Given the description of an element on the screen output the (x, y) to click on. 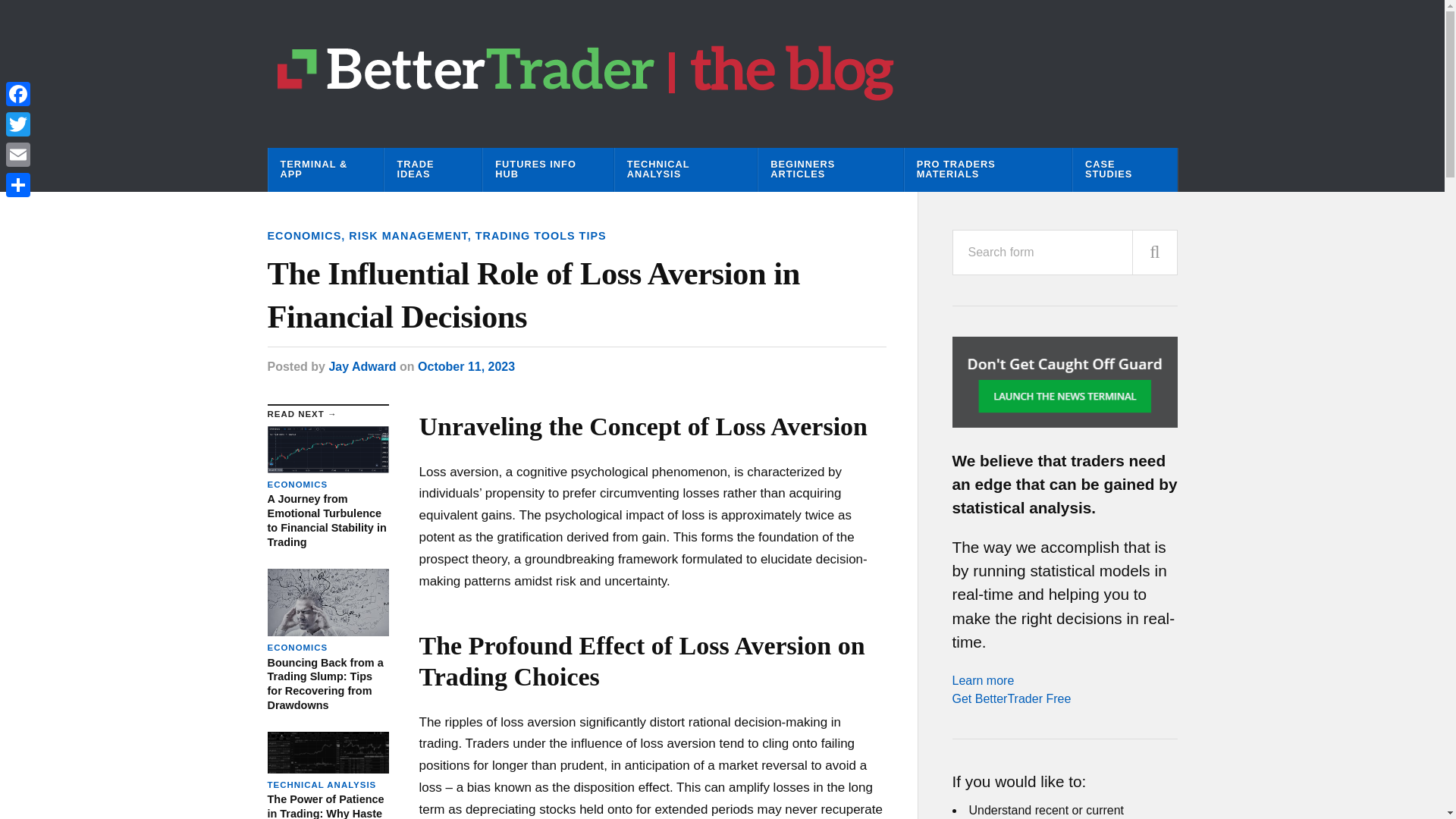
PRO TRADERS MATERIALS (987, 169)
BEGINNERS ARTICLES (830, 169)
RISK MANAGEMENT (408, 235)
FUTURES INFO HUB (547, 169)
TECHNICAL ANALYSIS (685, 169)
TRADE IDEAS (432, 169)
Jay Adward (362, 366)
